Given the description of an element on the screen output the (x, y) to click on. 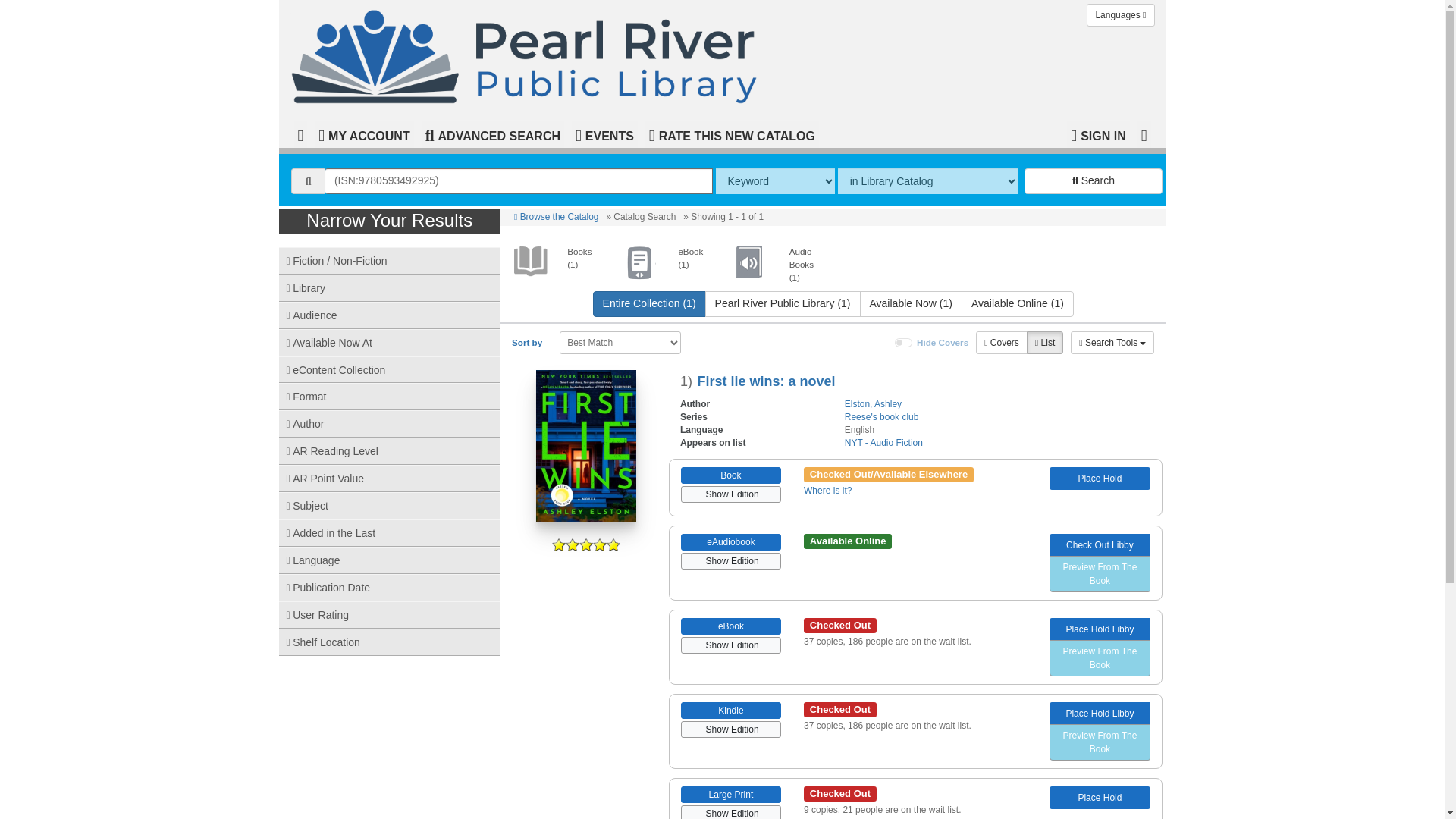
MY ACCOUNT (363, 134)
SIGN IN (1098, 134)
Languages  (1120, 15)
The method of searching. (775, 181)
ADVANCED SEARCH (493, 134)
 Search (1093, 181)
EVENTS (604, 134)
RATE THIS NEW CATALOG (731, 134)
Login (1098, 134)
Library Home Page (528, 54)
on (903, 342)
